Given the description of an element on the screen output the (x, y) to click on. 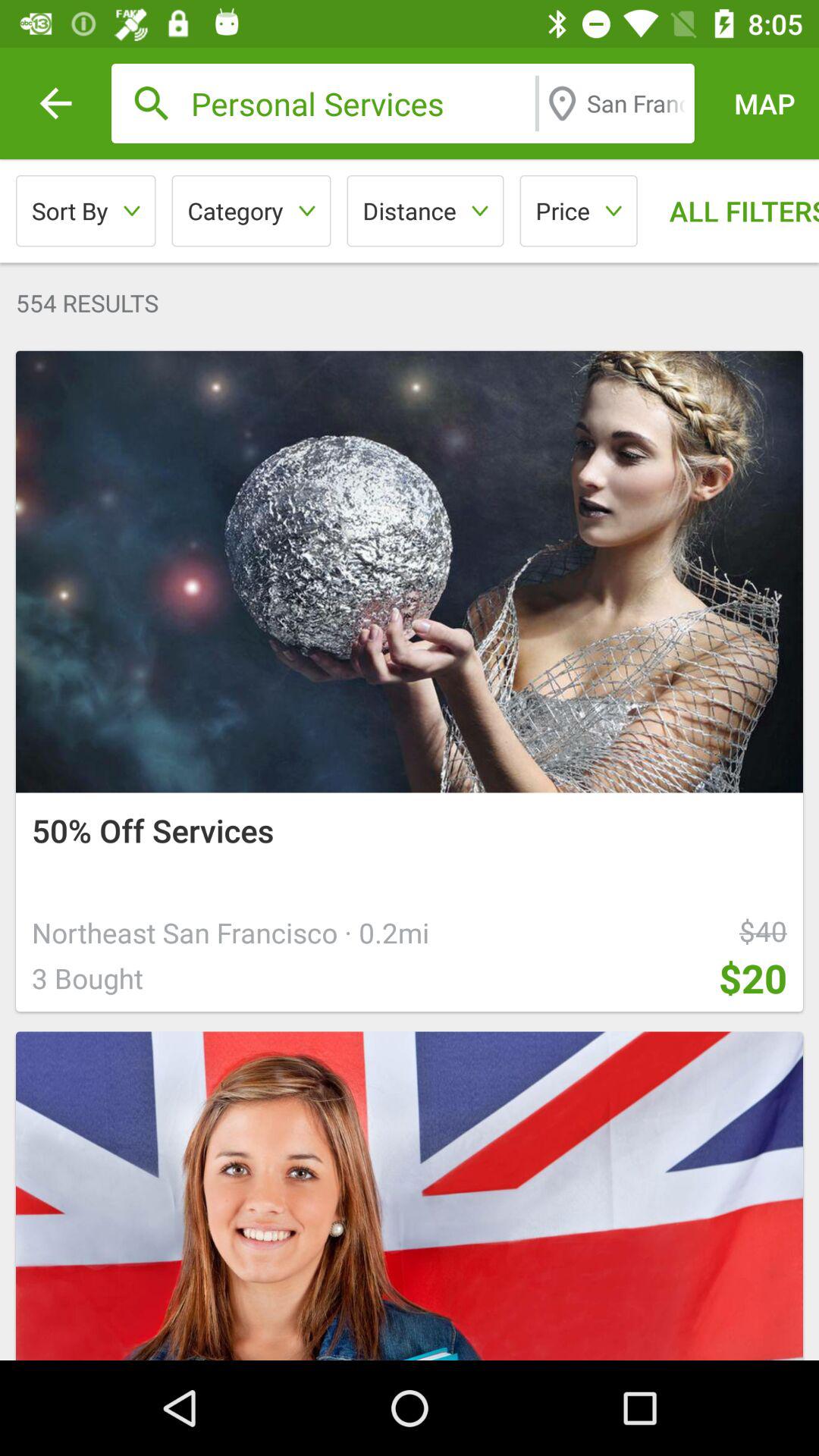
open icon above the 554 results (251, 210)
